Given the description of an element on the screen output the (x, y) to click on. 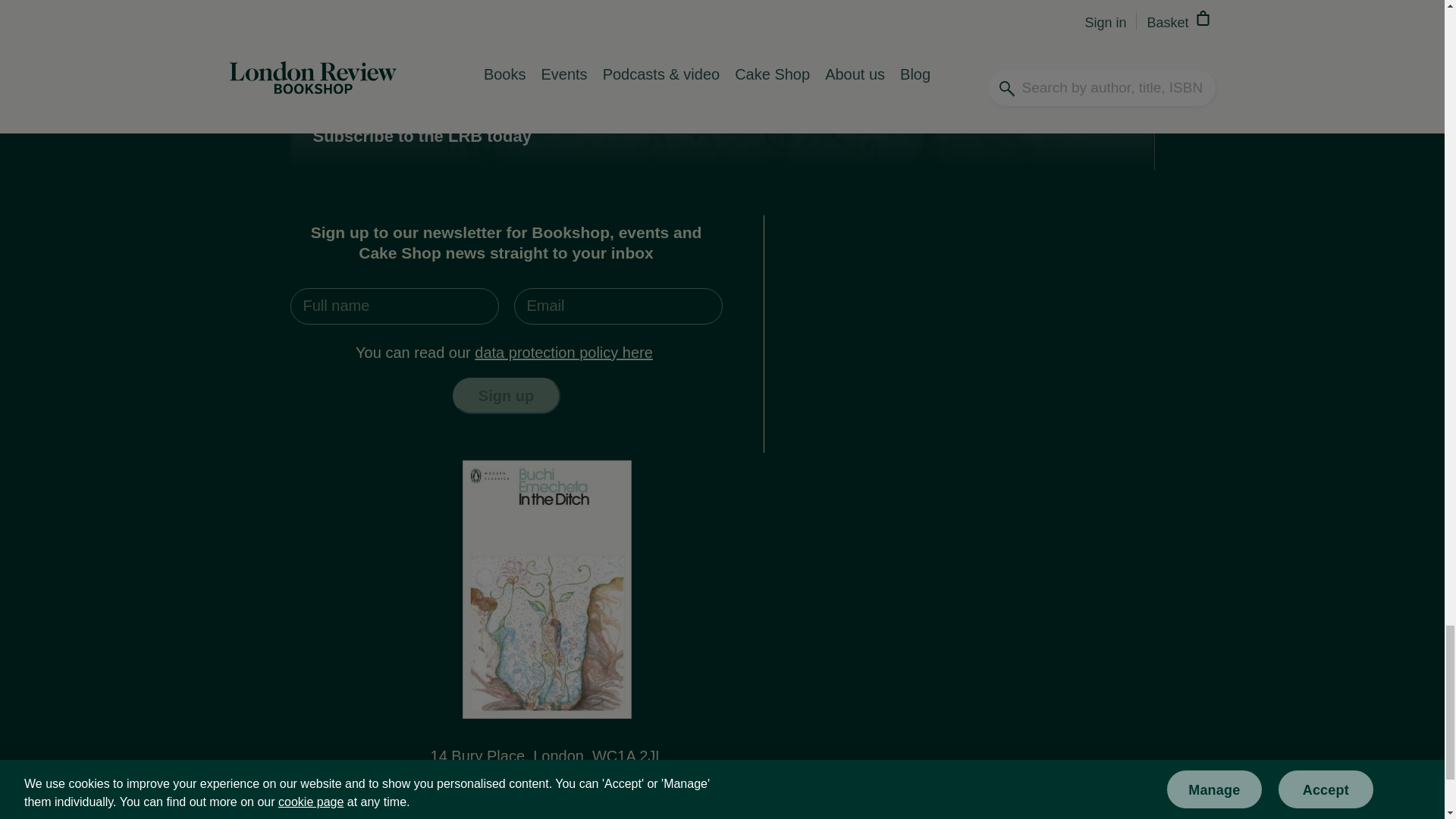
Sign up (505, 395)
Call us (547, 795)
data protection policy here (563, 352)
Read our data protection policy (563, 352)
Email us (547, 775)
